Given the description of an element on the screen output the (x, y) to click on. 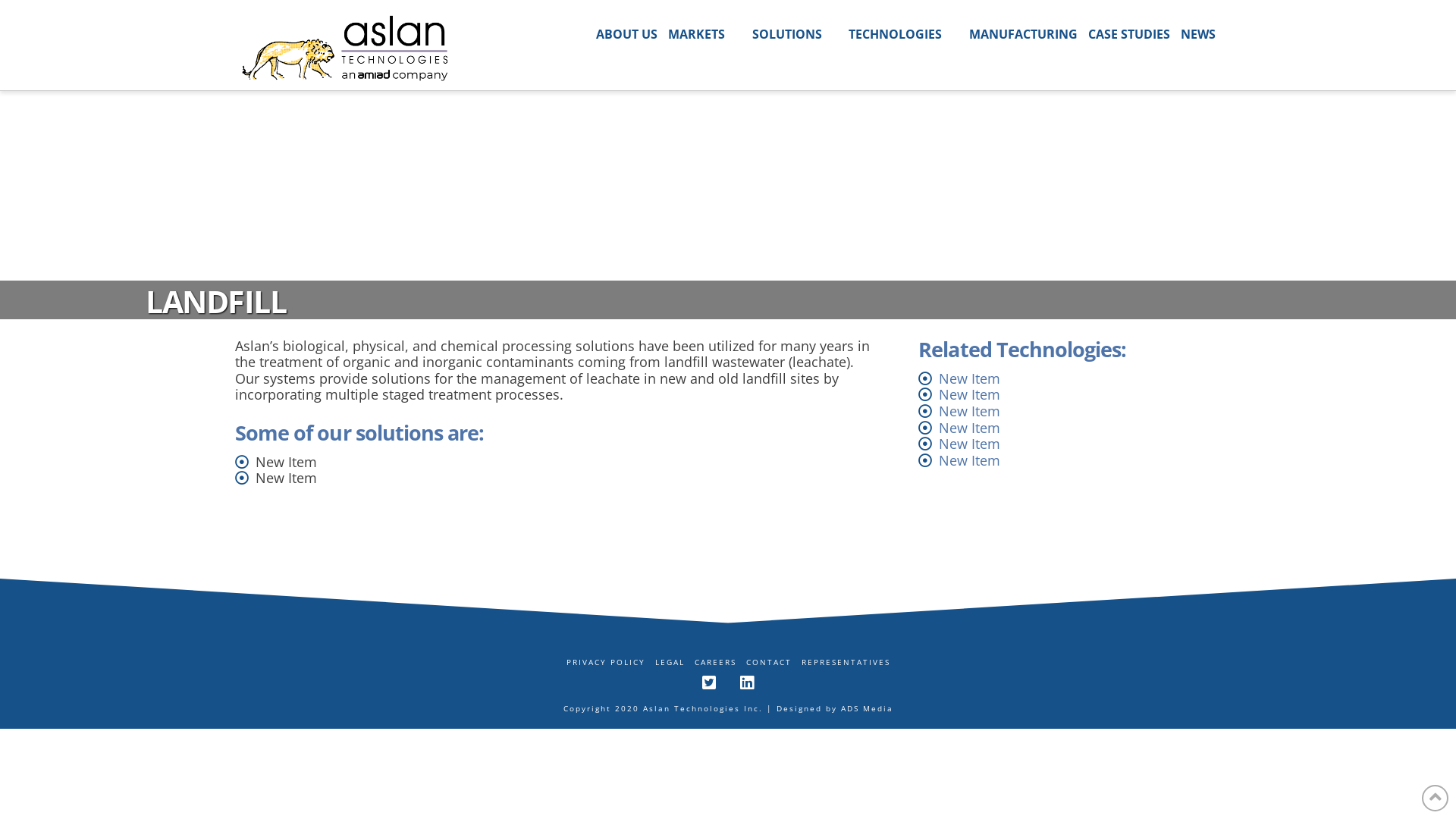
New Item Element type: text (969, 378)
Back to Top Element type: hover (1434, 797)
NEWS Element type: text (1197, 34)
PRIVACY POLICY Element type: text (604, 662)
New Item Element type: text (969, 443)
New Item Element type: text (969, 394)
MARKETS Element type: text (704, 34)
CASE STUDIES Element type: text (1128, 34)
CAREERS Element type: text (715, 662)
MANUFACTURING Element type: text (1022, 34)
TECHNOLOGIES Element type: text (903, 34)
SOLUTIONS Element type: text (795, 34)
ABOUT US Element type: text (626, 34)
ADS Media Element type: text (866, 707)
LinkedIn Element type: hover (746, 682)
New Item Element type: text (969, 460)
Twitter Element type: hover (708, 682)
LEGAL Element type: text (669, 662)
New Item Element type: text (969, 427)
New Item Element type: text (969, 410)
REPRESENTATIVES Element type: text (844, 662)
CONTACT Element type: text (768, 662)
